Given the description of an element on the screen output the (x, y) to click on. 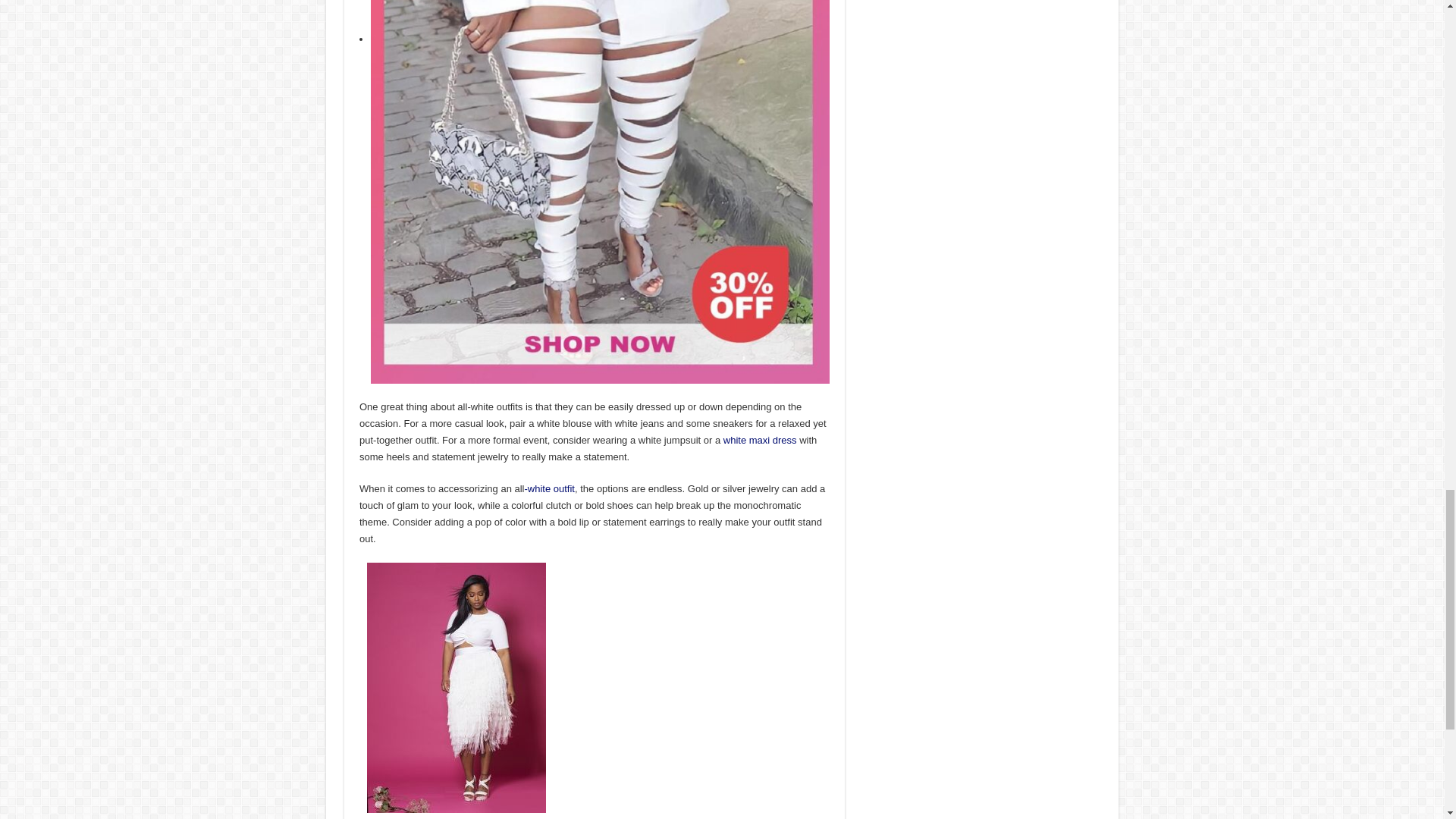
Dazzling Plus Size Outfits in Beautiful White Shades (456, 686)
white maxi dress (759, 439)
-white outfit (548, 488)
Stylish Plus Size Outfits in Timeless White (548, 488)
Dazzling Plus Size Outfits in Beautiful White Shades (759, 439)
